Given the description of an element on the screen output the (x, y) to click on. 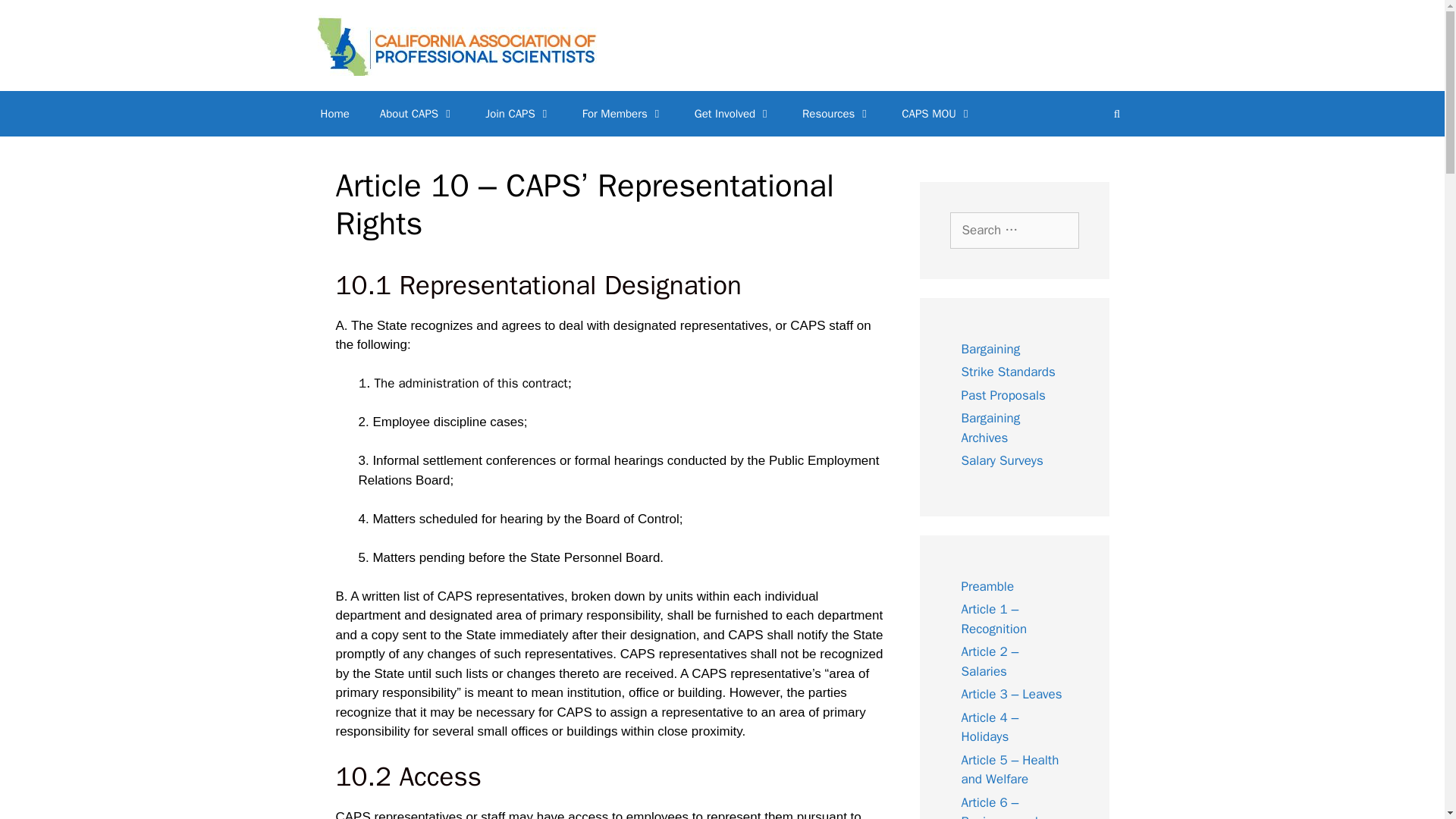
Resources (836, 113)
Home (334, 113)
Join CAPS (518, 113)
Search for: (1013, 230)
For Members (623, 113)
About CAPS (417, 113)
Get Involved (733, 113)
